Given the description of an element on the screen output the (x, y) to click on. 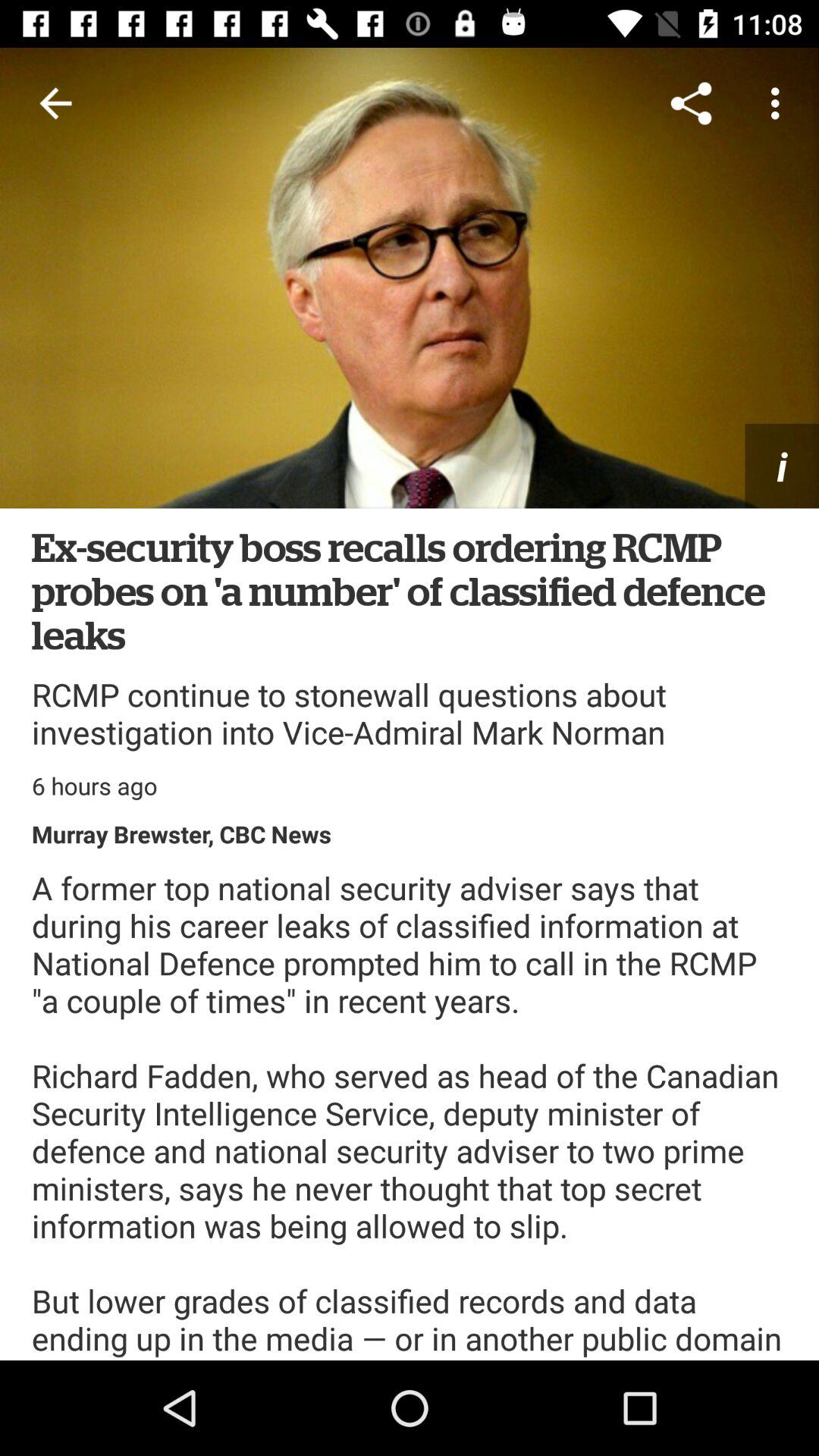
open murray brewster cbc item (181, 833)
